Given the description of an element on the screen output the (x, y) to click on. 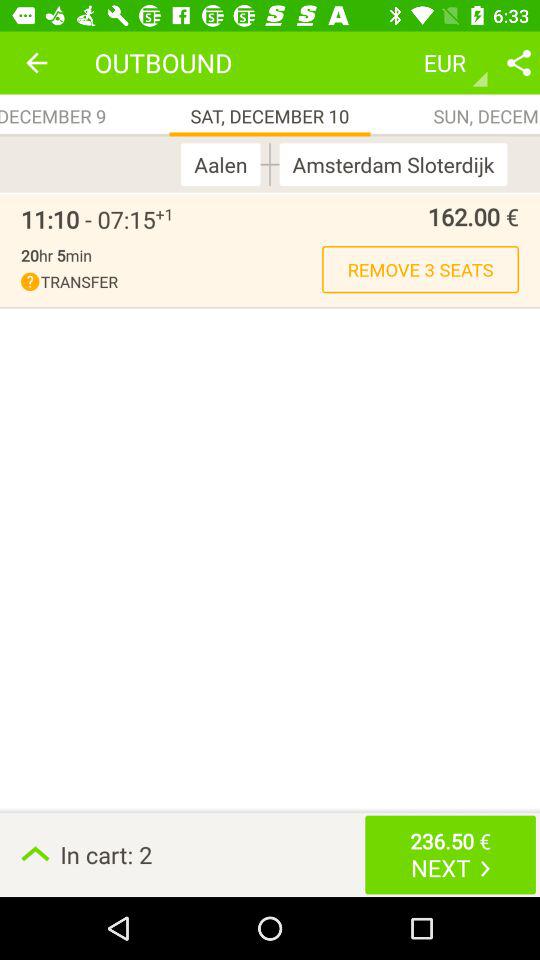
open item to the right of +1 item (346, 216)
